Given the description of an element on the screen output the (x, y) to click on. 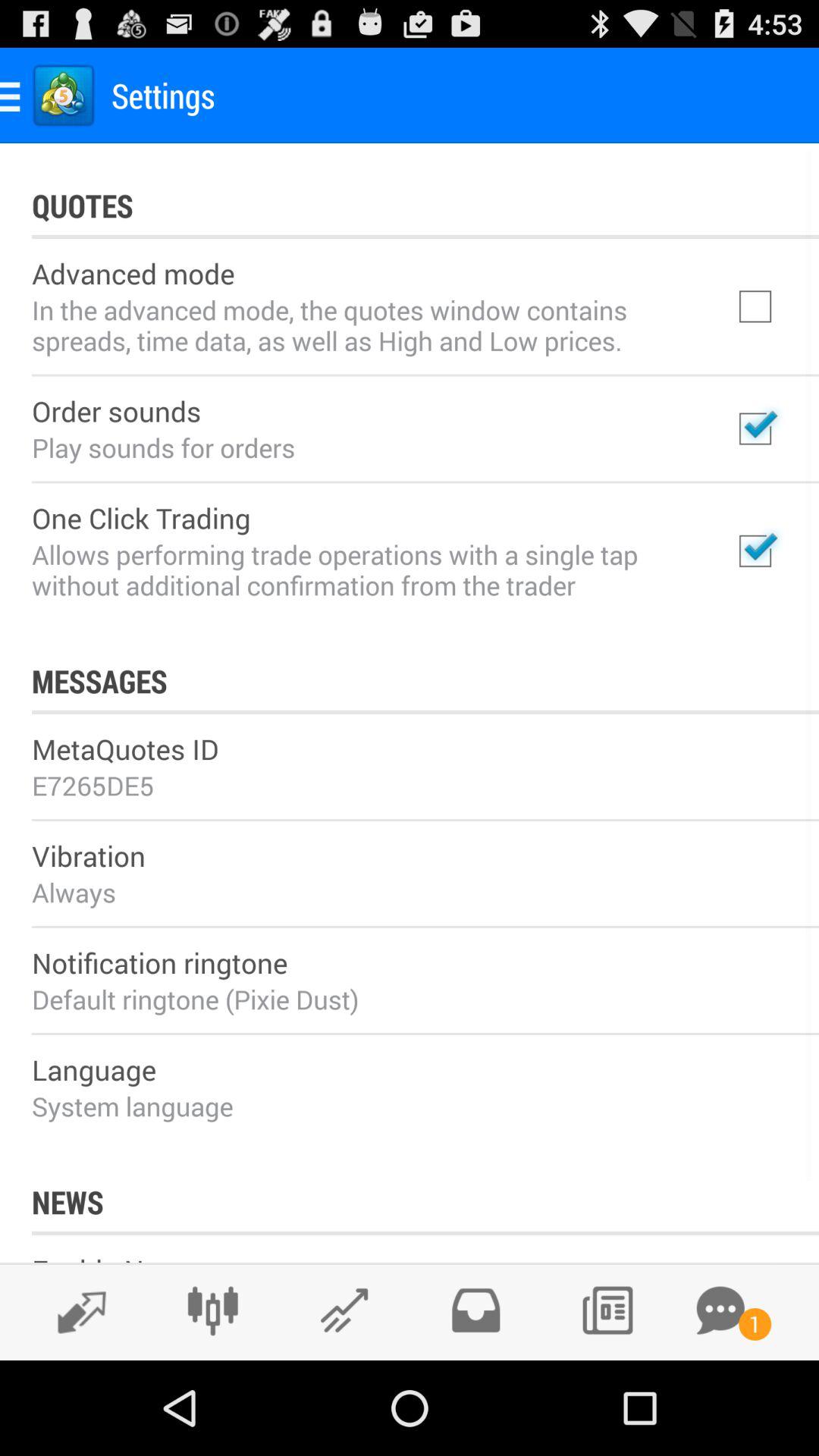
a conversation button meaning some chat notification (720, 1310)
